Given the description of an element on the screen output the (x, y) to click on. 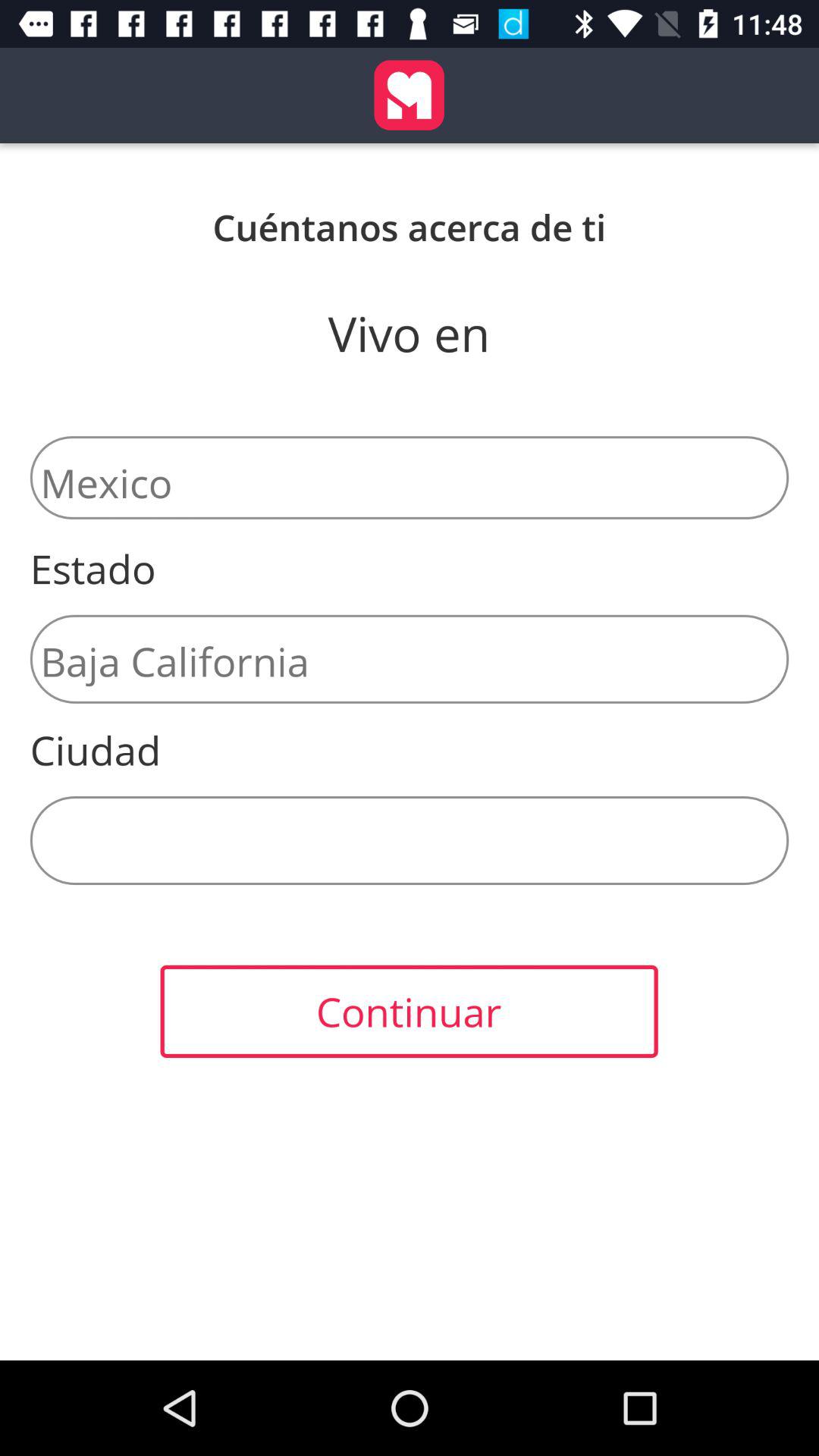
tap the item above continuar icon (409, 840)
